Given the description of an element on the screen output the (x, y) to click on. 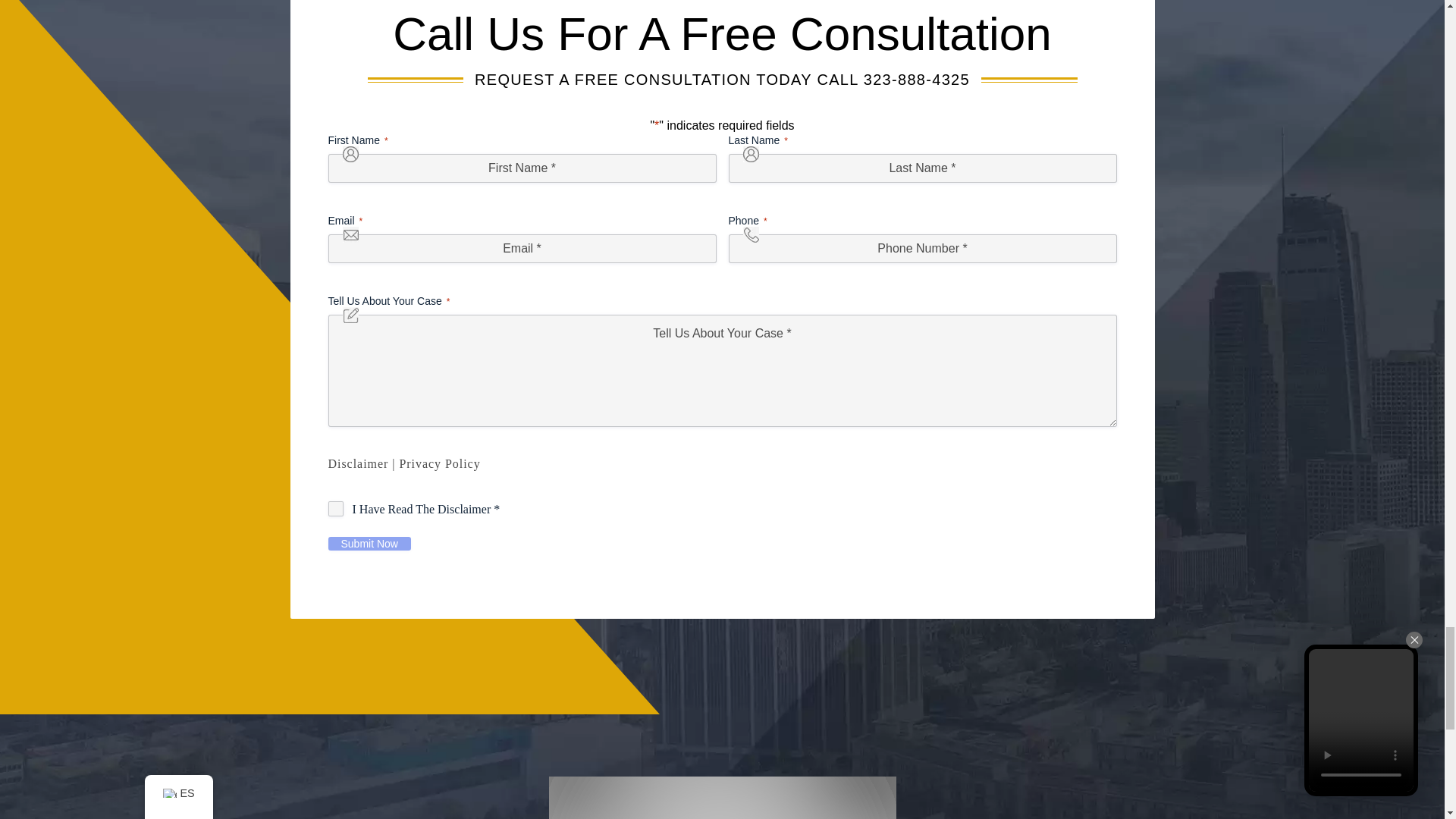
Submit Now (368, 543)
